Given the description of an element on the screen output the (x, y) to click on. 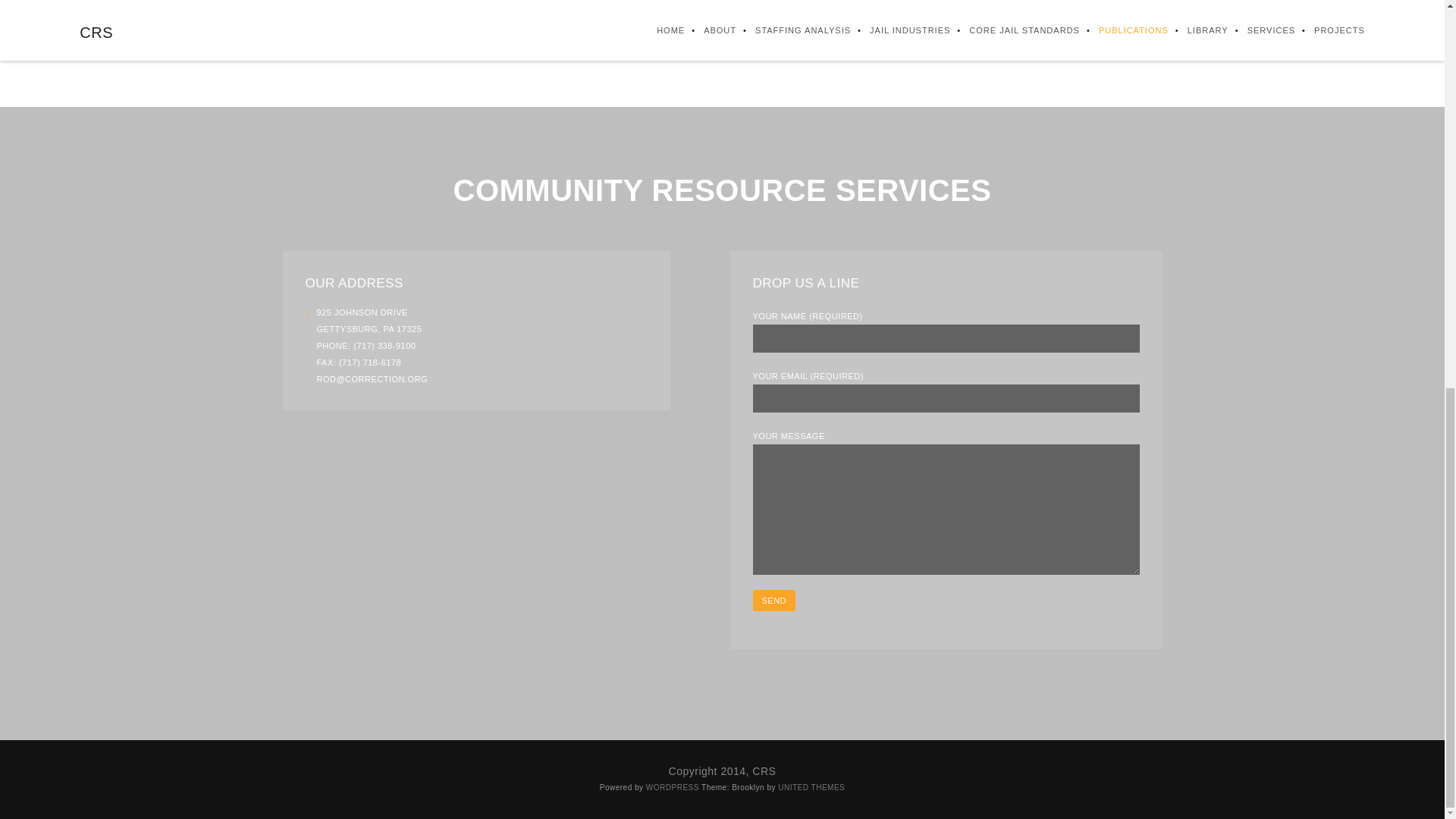
A Semantic Personal Publishing Platform (672, 786)
Send (773, 599)
UNITED THEMES (810, 786)
WORDPRESS (672, 786)
Send (773, 599)
